Given the description of an element on the screen output the (x, y) to click on. 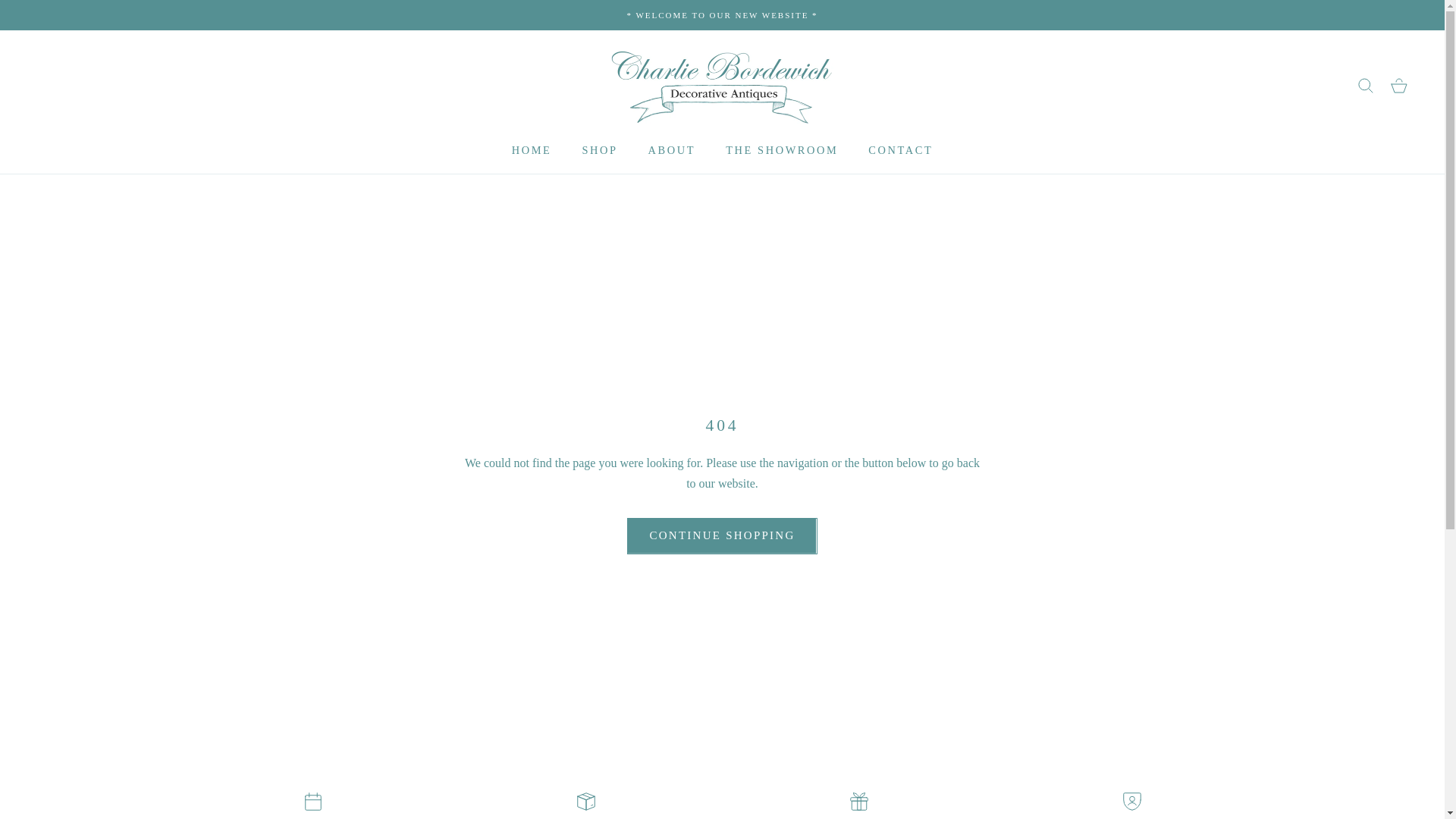
CONTINUE SHOPPING (721, 535)
Charlie Bordewich Interiors (721, 85)
Open search (1365, 85)
Open cart (1398, 85)
HOME (531, 149)
ABOUT (671, 149)
THE SHOWROOM (781, 149)
CONTACT (900, 149)
